Given the description of an element on the screen output the (x, y) to click on. 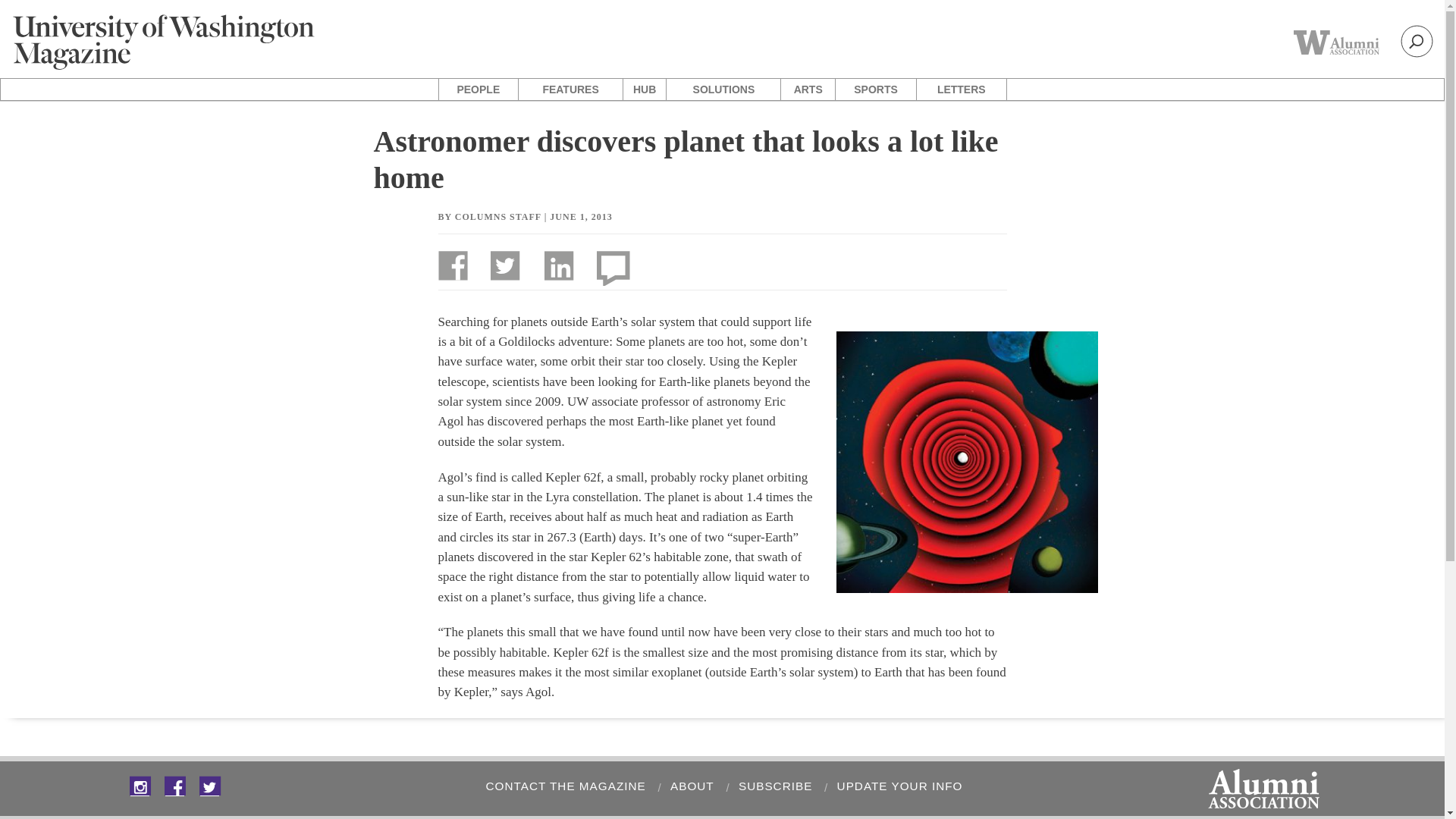
CONTACT THE MAGAZINE (563, 785)
PEOPLE (478, 89)
ABOUT (689, 785)
LETTERS (961, 89)
UPDATE YOUR INFO (896, 785)
SUBSCRIBE (772, 785)
HUB (644, 89)
SPORTS (875, 89)
SOLUTIONS (723, 89)
FEATURES (570, 89)
